Given the description of an element on the screen output the (x, y) to click on. 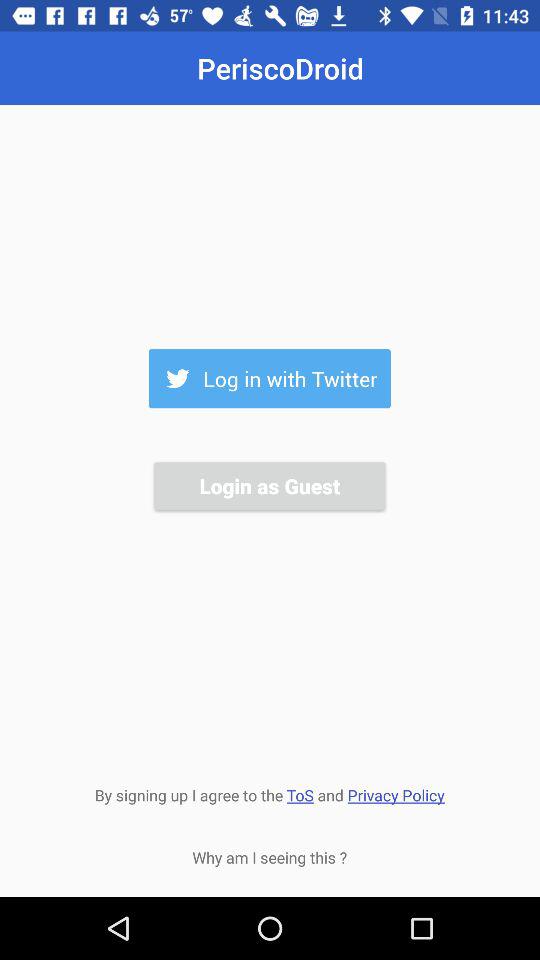
tap the item below the login as guest (269, 793)
